Given the description of an element on the screen output the (x, y) to click on. 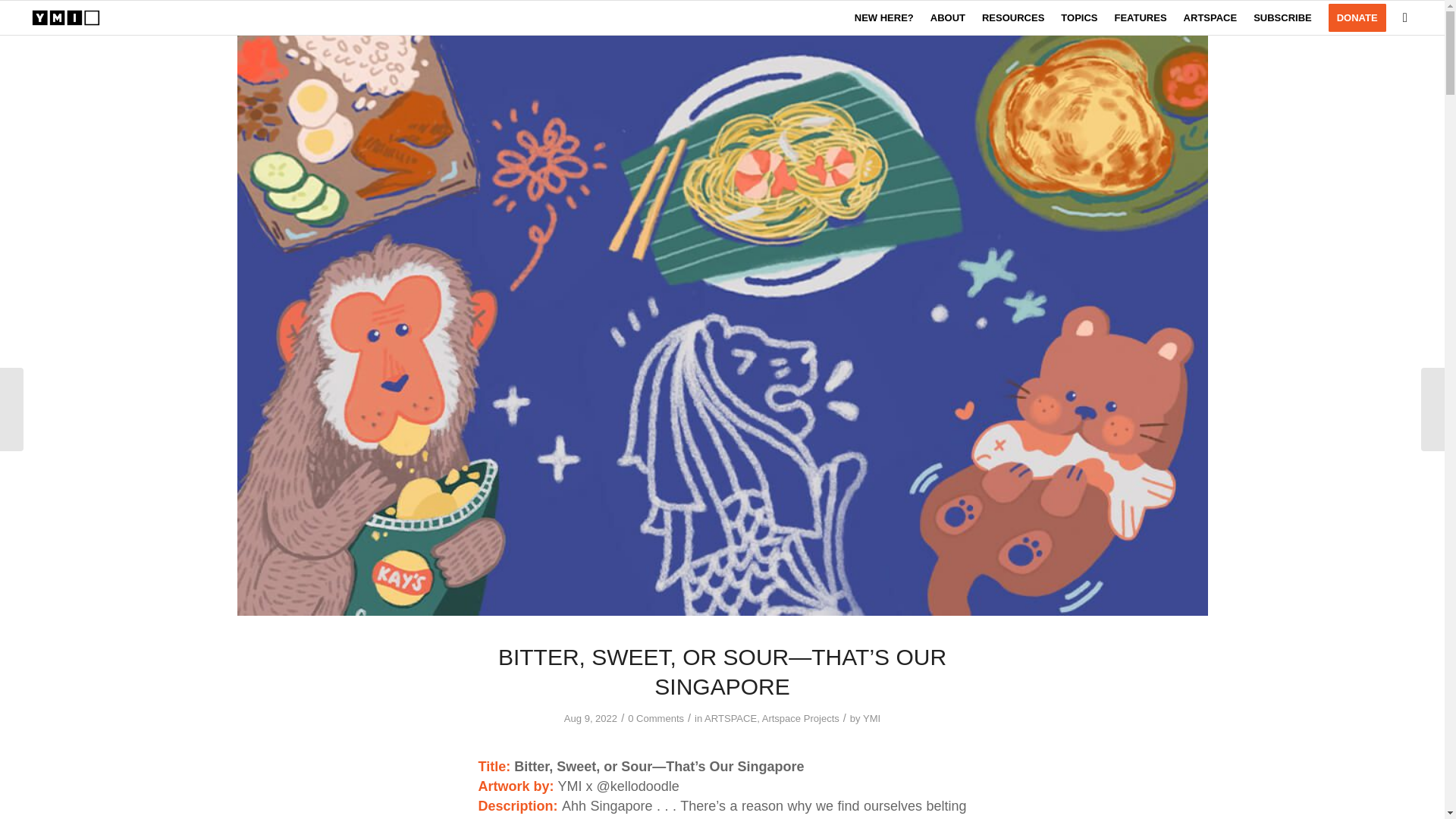
ymi-logo-black-3 (66, 17)
Posts by YMI (871, 717)
RESOURCES (1013, 17)
ABOUT (947, 17)
TOPICS (1078, 17)
NEW HERE? (883, 17)
